Given the description of an element on the screen output the (x, y) to click on. 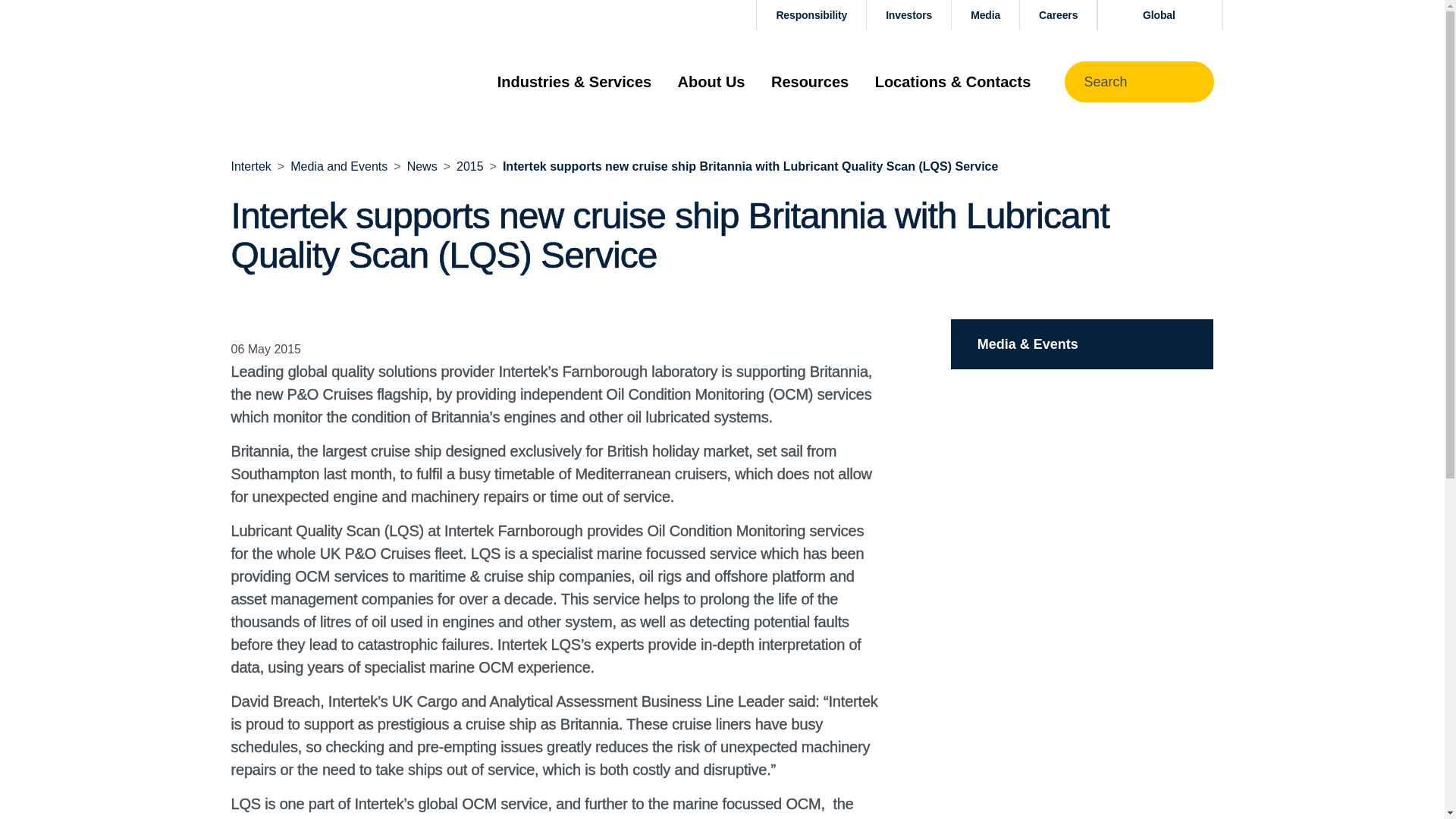
News (422, 165)
2015 (470, 165)
Intertek (250, 165)
Intertek Intertek Brand Logo (304, 81)
Intertek Intertek Brand Logo (304, 81)
